Given the description of an element on the screen output the (x, y) to click on. 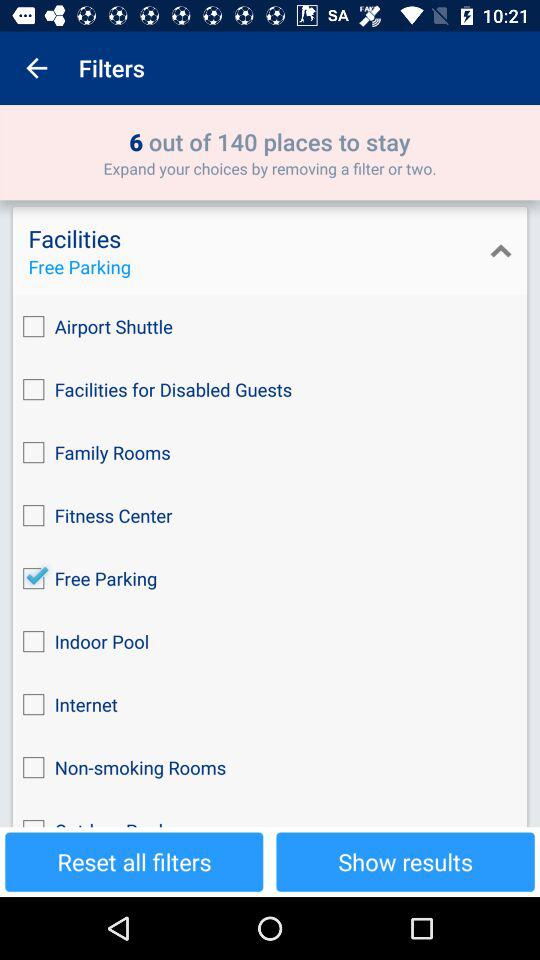
turn off the show results app (405, 861)
